Given the description of an element on the screen output the (x, y) to click on. 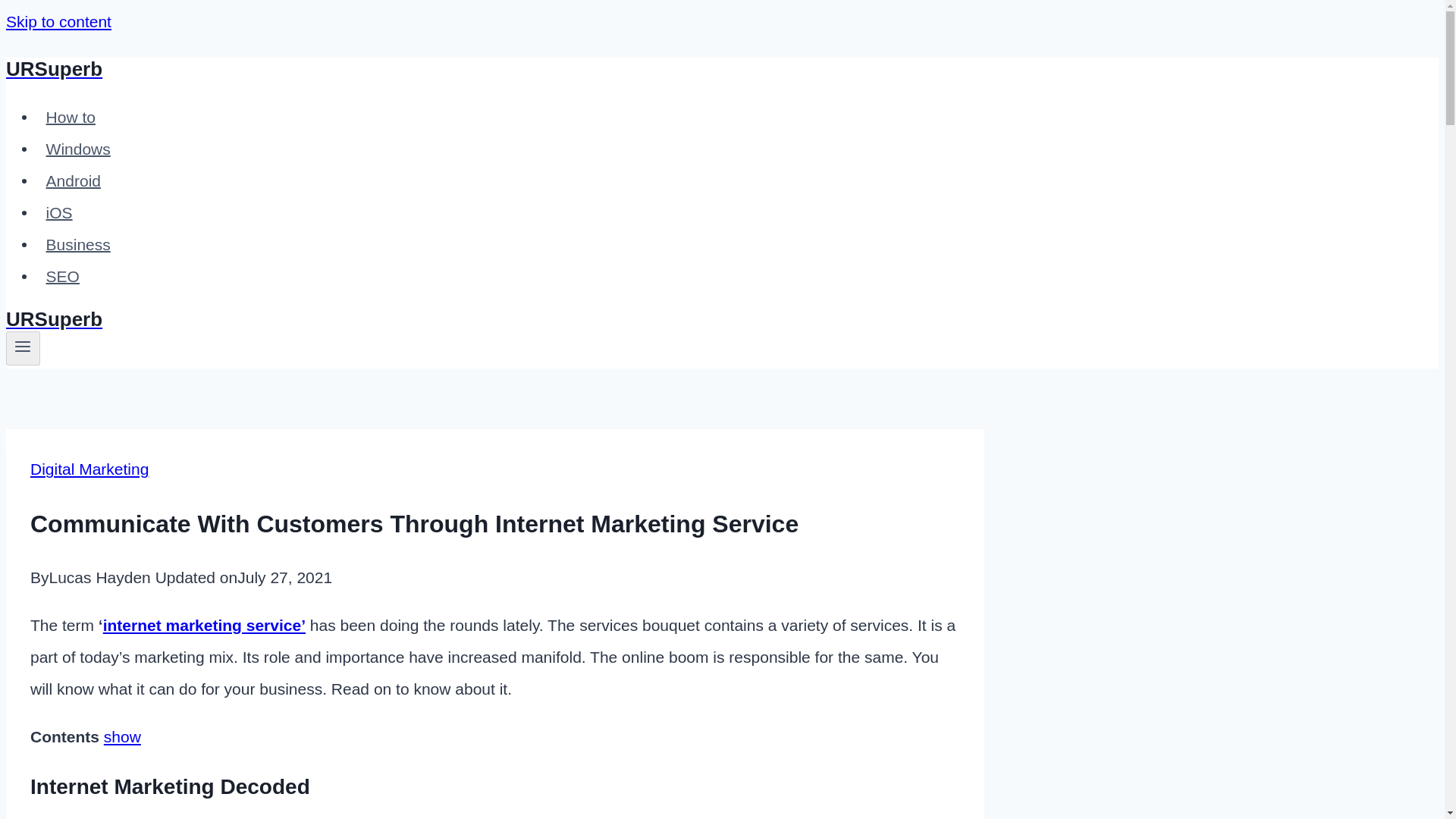
URSuperb (494, 69)
Android (73, 180)
Digital Marketing (89, 468)
Skip to content (58, 21)
SEO (62, 275)
show (122, 736)
How to (70, 116)
Business (77, 244)
Toggle Menu (22, 347)
Windows (77, 148)
Skip to content (58, 21)
Toggle Menu (22, 346)
iOS (58, 212)
URSuperb (494, 319)
